Given the description of an element on the screen output the (x, y) to click on. 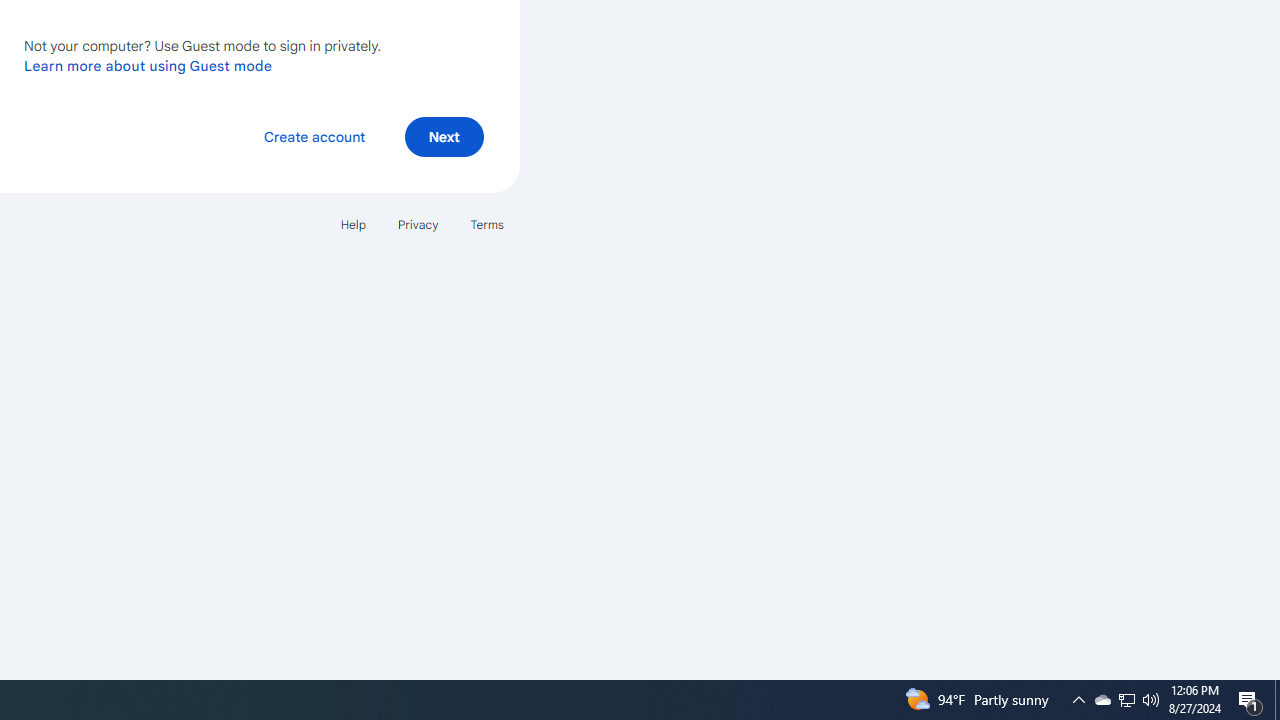
Create account (314, 135)
Learn more about using Guest mode (148, 65)
